Given the description of an element on the screen output the (x, y) to click on. 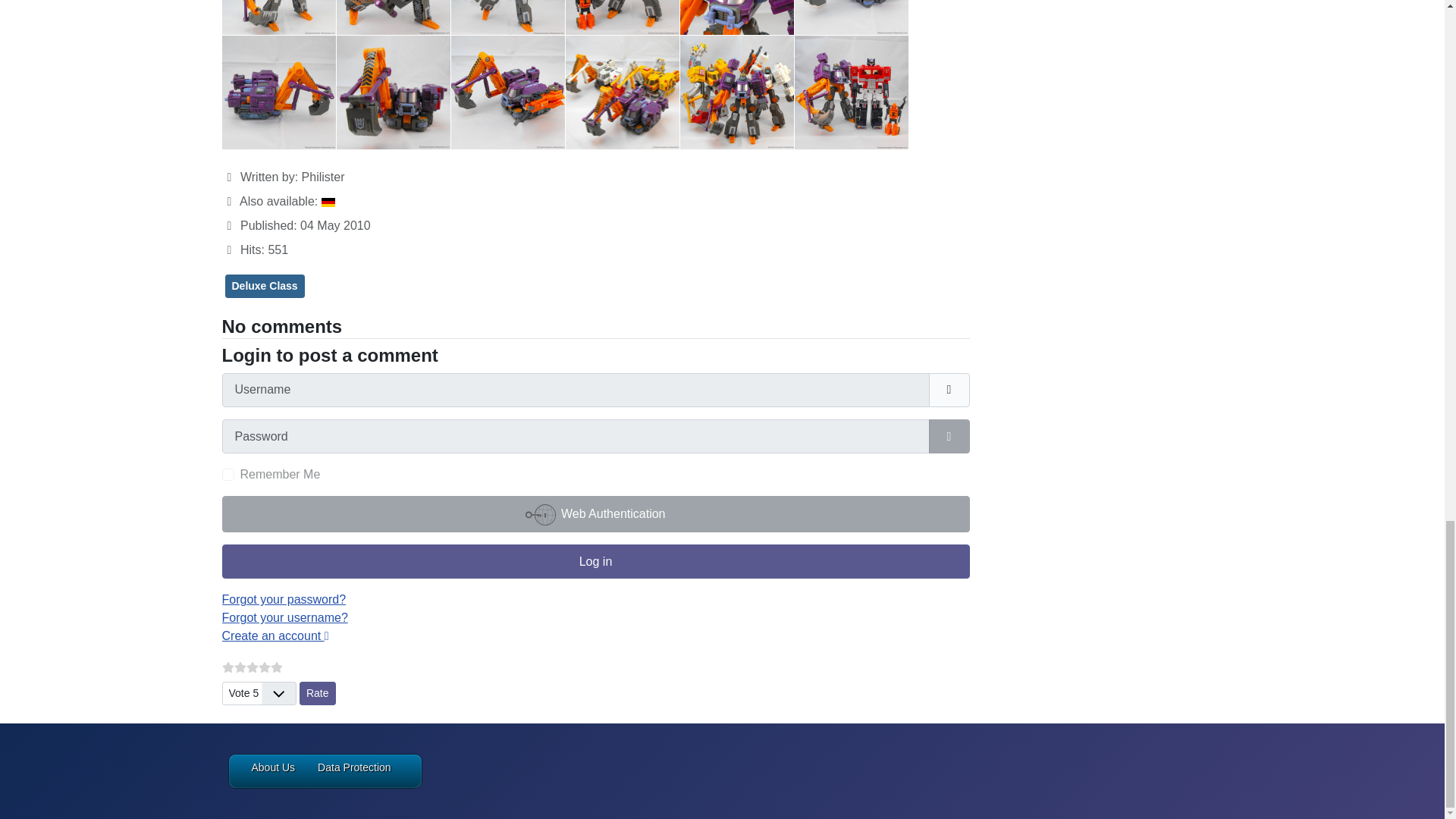
Rate (317, 693)
yes (226, 474)
